Given the description of an element on the screen output the (x, y) to click on. 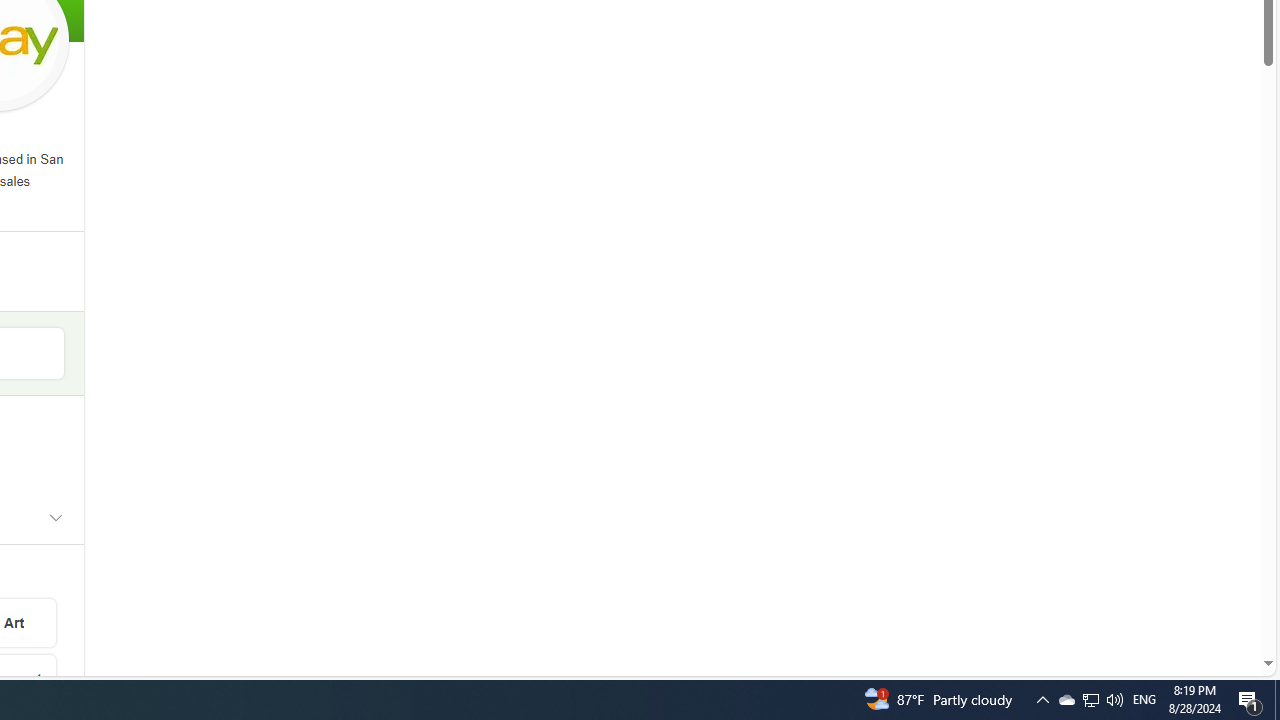
AutomationID: mfa_root (1192, 603)
Search more (1222, 604)
